Given the description of an element on the screen output the (x, y) to click on. 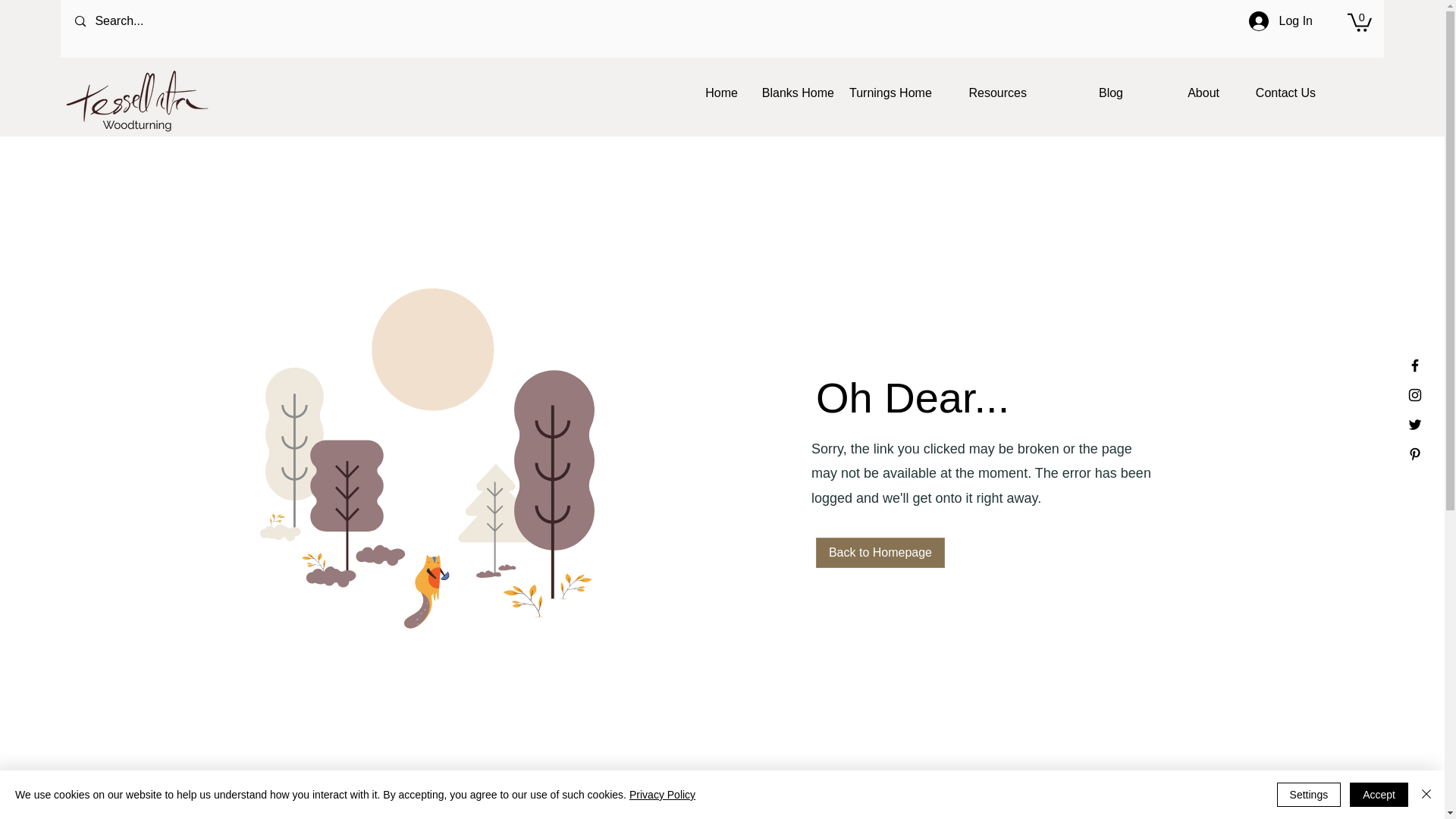
Blanks Home (793, 93)
0 (1359, 21)
Blog (1082, 93)
About (1179, 93)
Log In (1281, 21)
Turnings Home (889, 93)
0 (1359, 21)
Contact Us (1275, 93)
Resources (985, 93)
Home (697, 93)
